Given the description of an element on the screen output the (x, y) to click on. 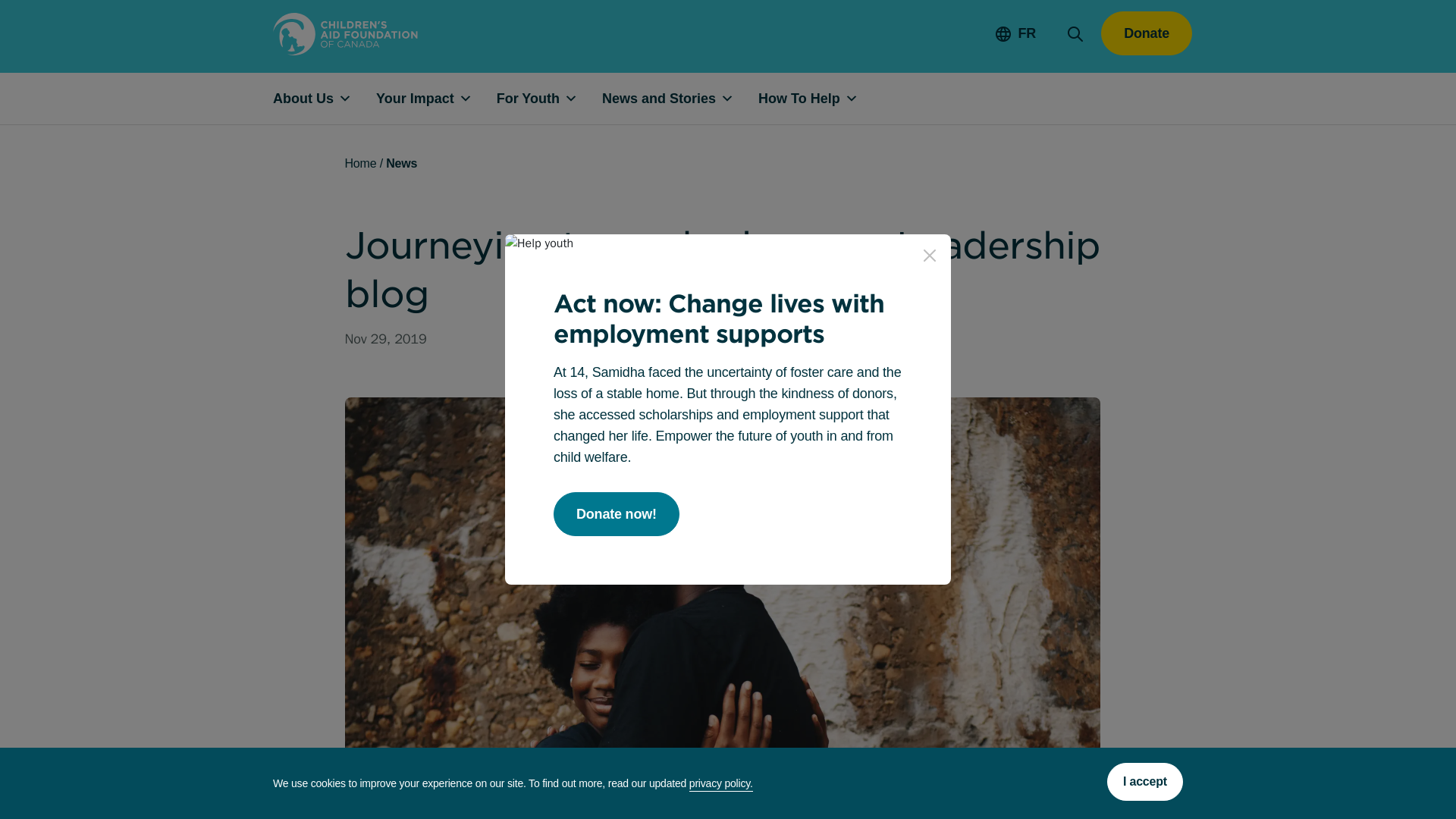
Donate (1146, 33)
FR (1015, 32)
How To Help (820, 98)
News and Stories (680, 98)
Your Impact (435, 98)
For Youth (549, 98)
About Us (324, 98)
